Given the description of an element on the screen output the (x, y) to click on. 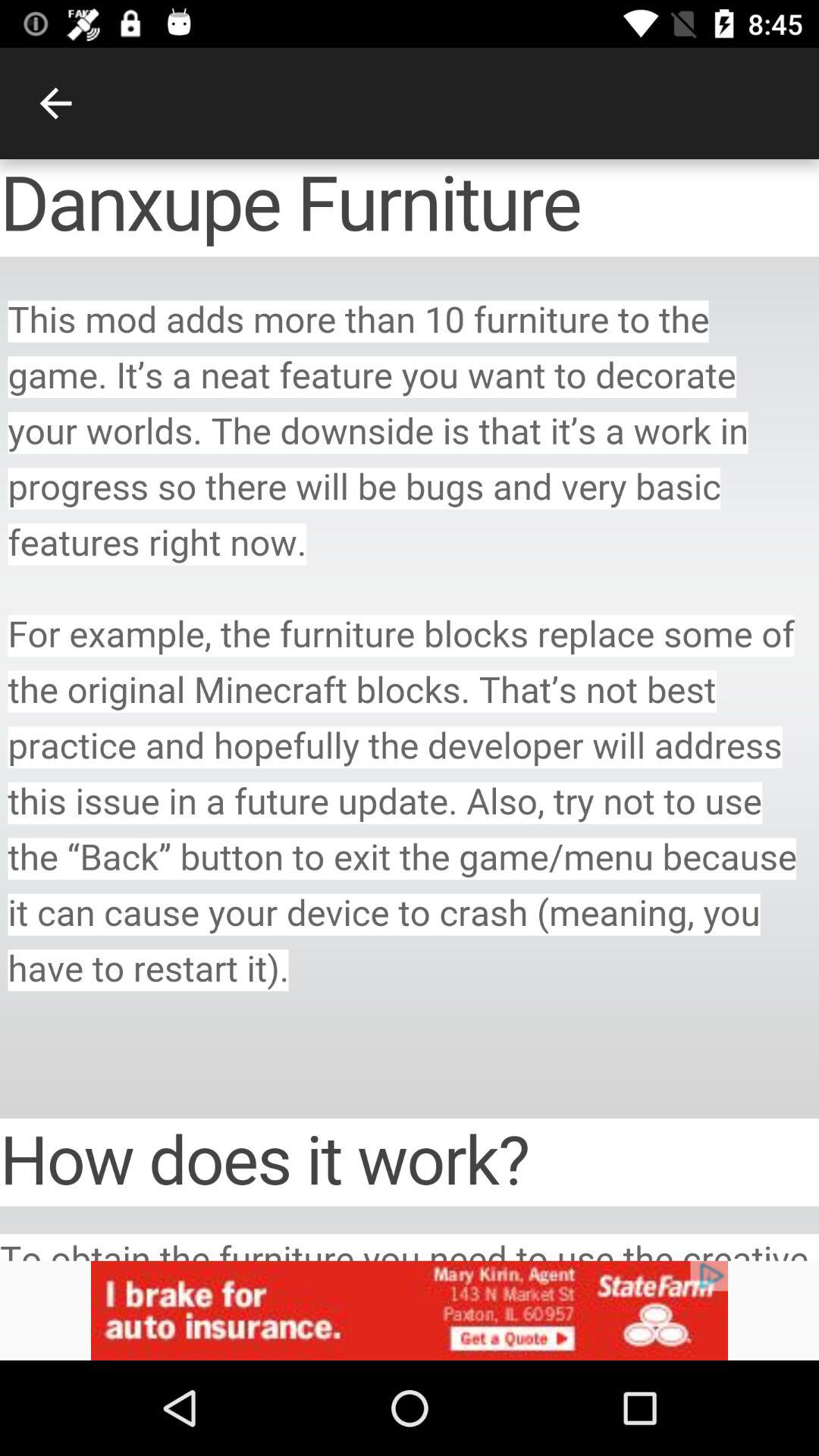
go to advertisement (409, 1310)
